Given the description of an element on the screen output the (x, y) to click on. 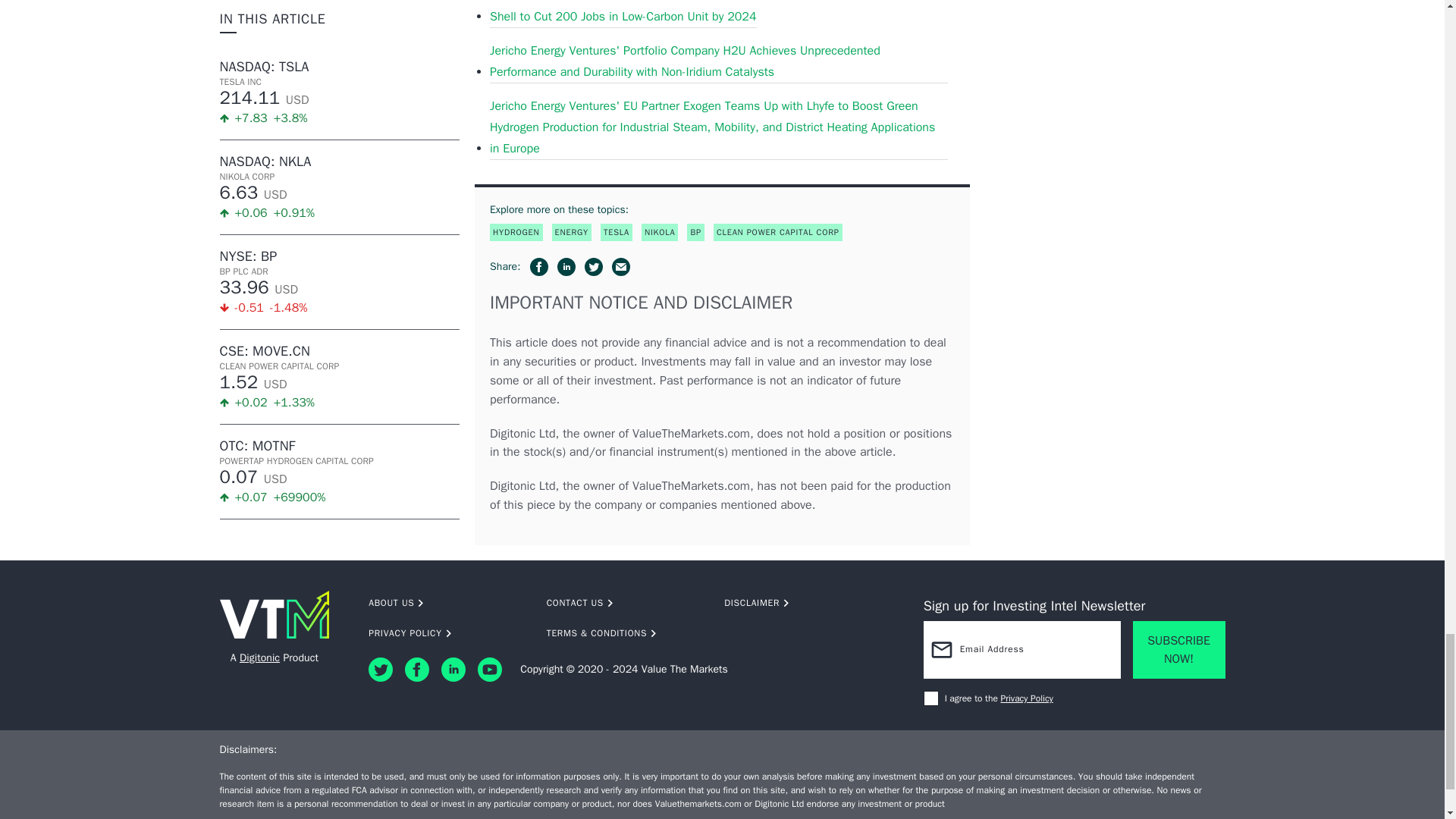
Yes (931, 698)
Shell to Cut 200 Jobs in Low-Carbon Unit by 2024 (623, 16)
